Given the description of an element on the screen output the (x, y) to click on. 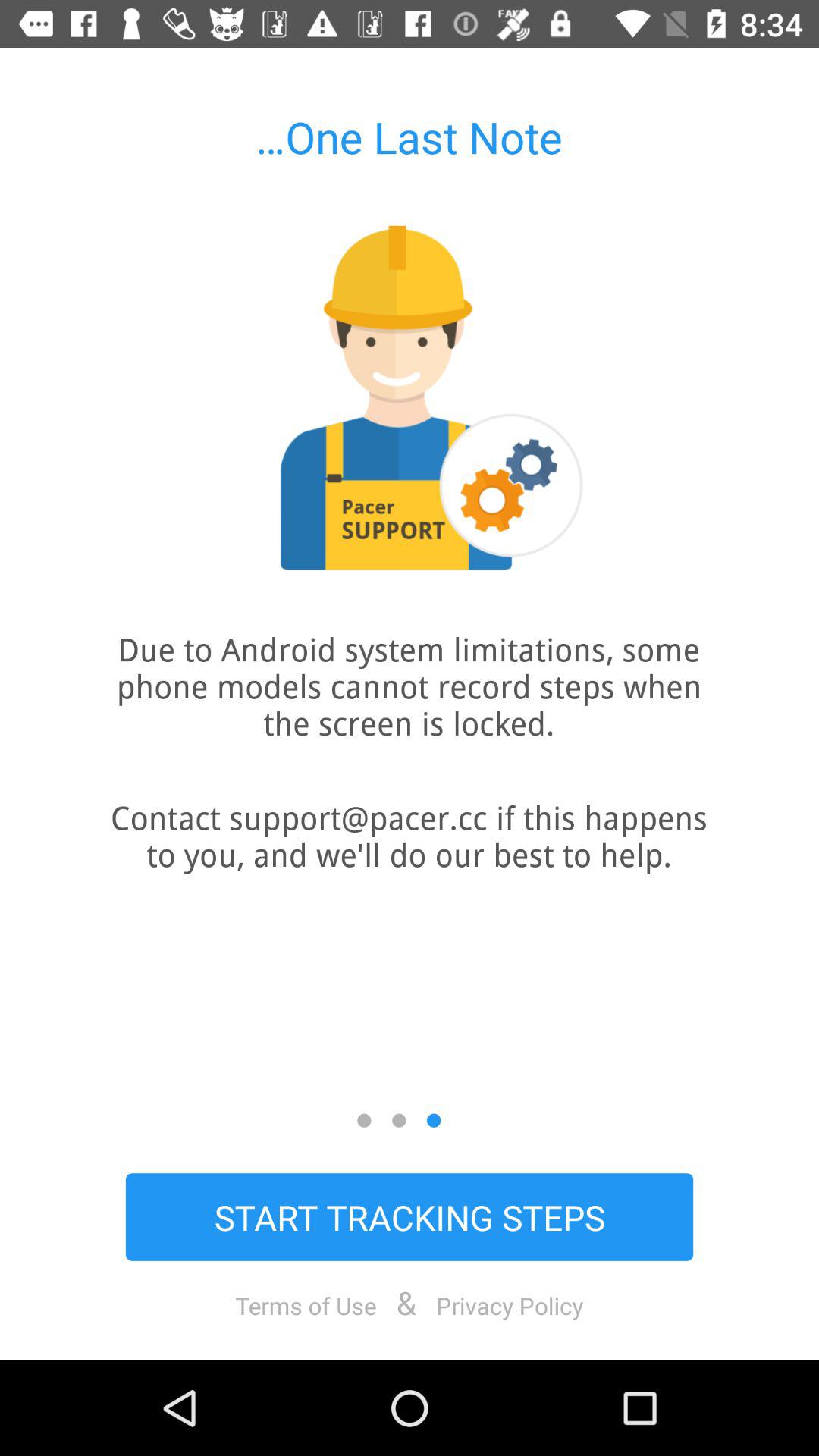
jump until the privacy policy (509, 1305)
